Given the description of an element on the screen output the (x, y) to click on. 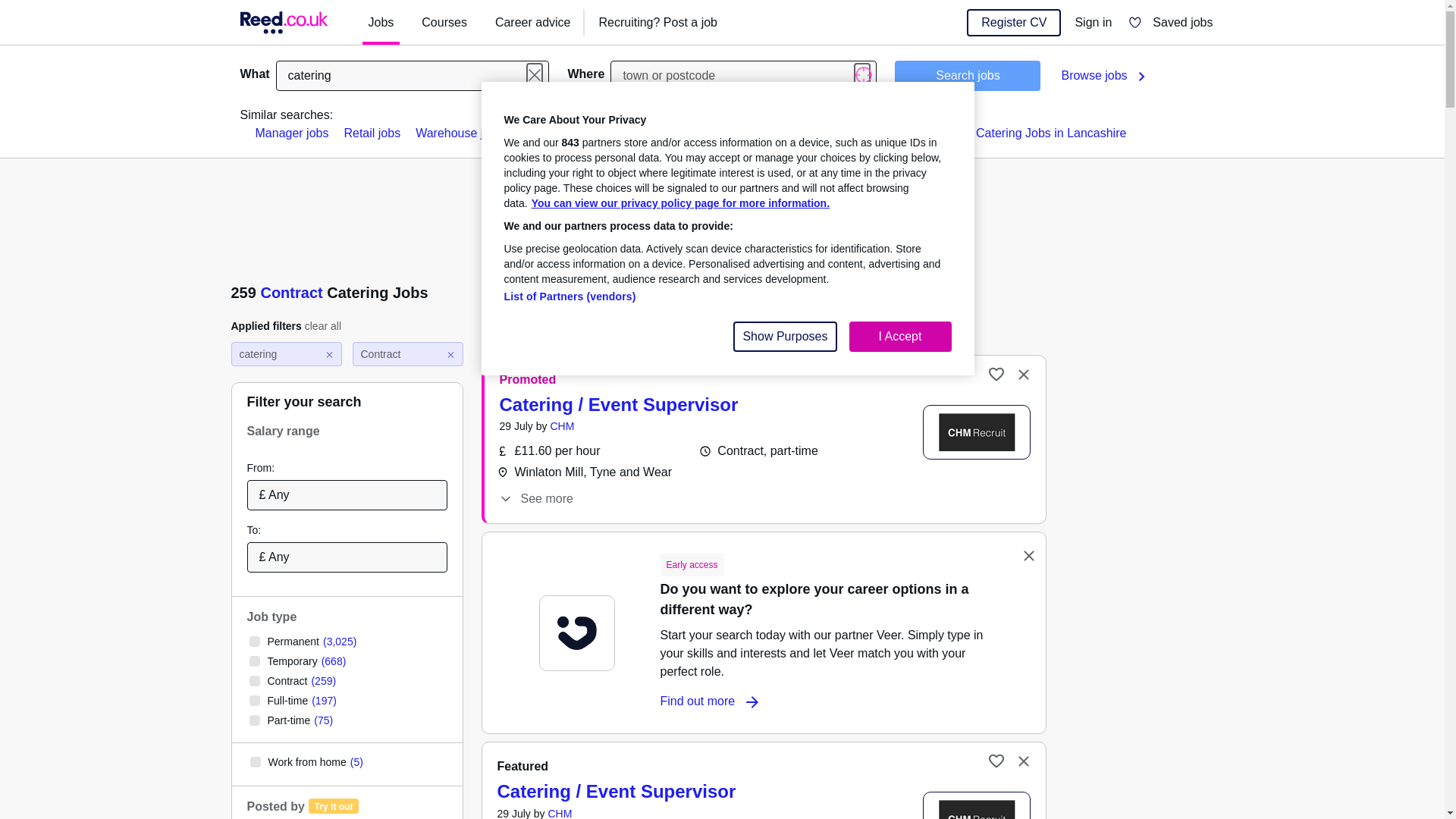
Hospitality jobs (641, 132)
Contract (290, 292)
Manager jobs (291, 132)
Recruiting? Post a job (657, 22)
Saved jobs (1170, 22)
on (255, 761)
Warehouse jobs (458, 132)
See more (534, 498)
on (253, 661)
Hospitality jobs (641, 132)
